Given the description of an element on the screen output the (x, y) to click on. 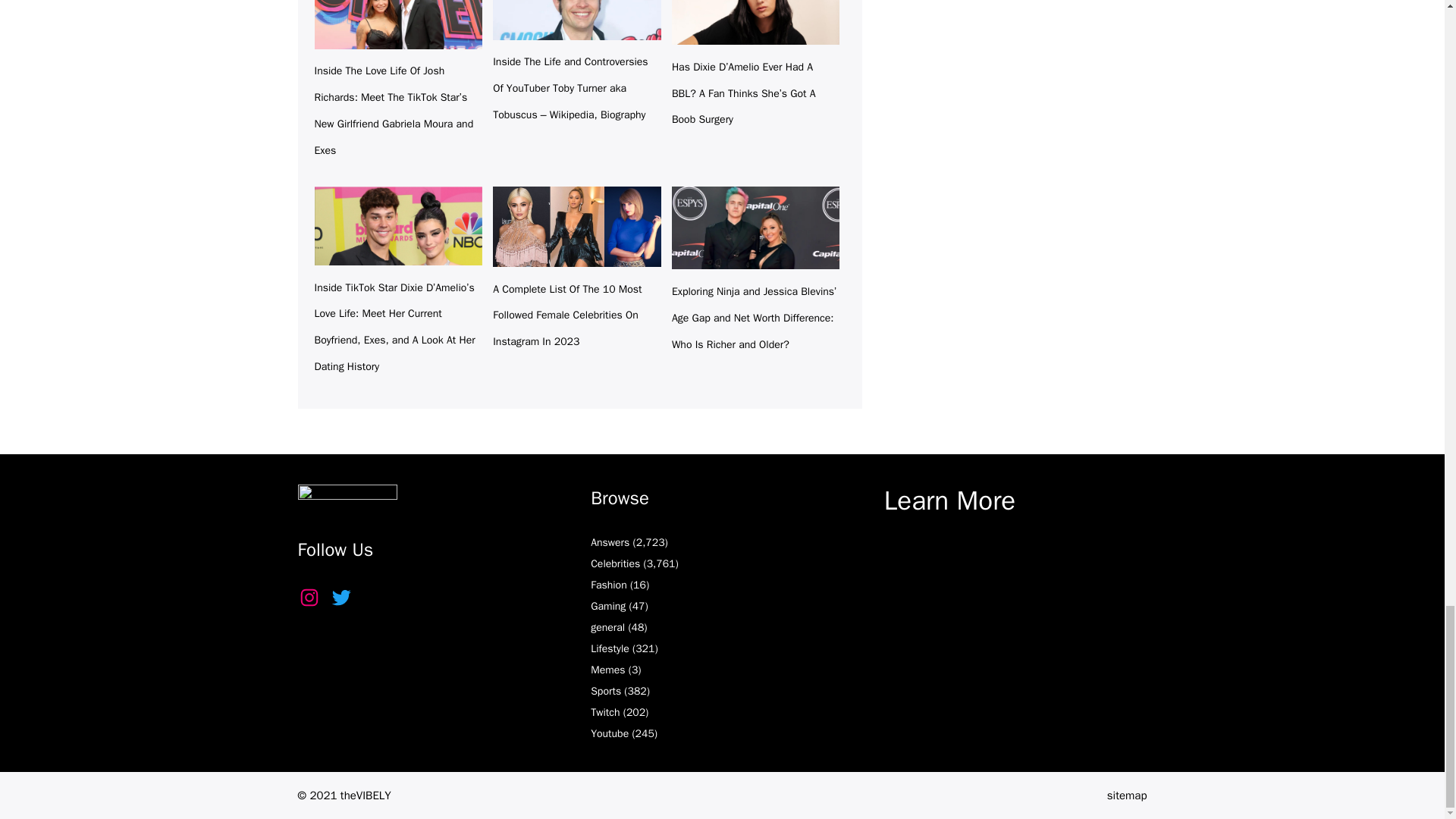
Celebrities (615, 563)
Twitter (340, 597)
Answers (609, 542)
Instagram (308, 597)
